Given the description of an element on the screen output the (x, y) to click on. 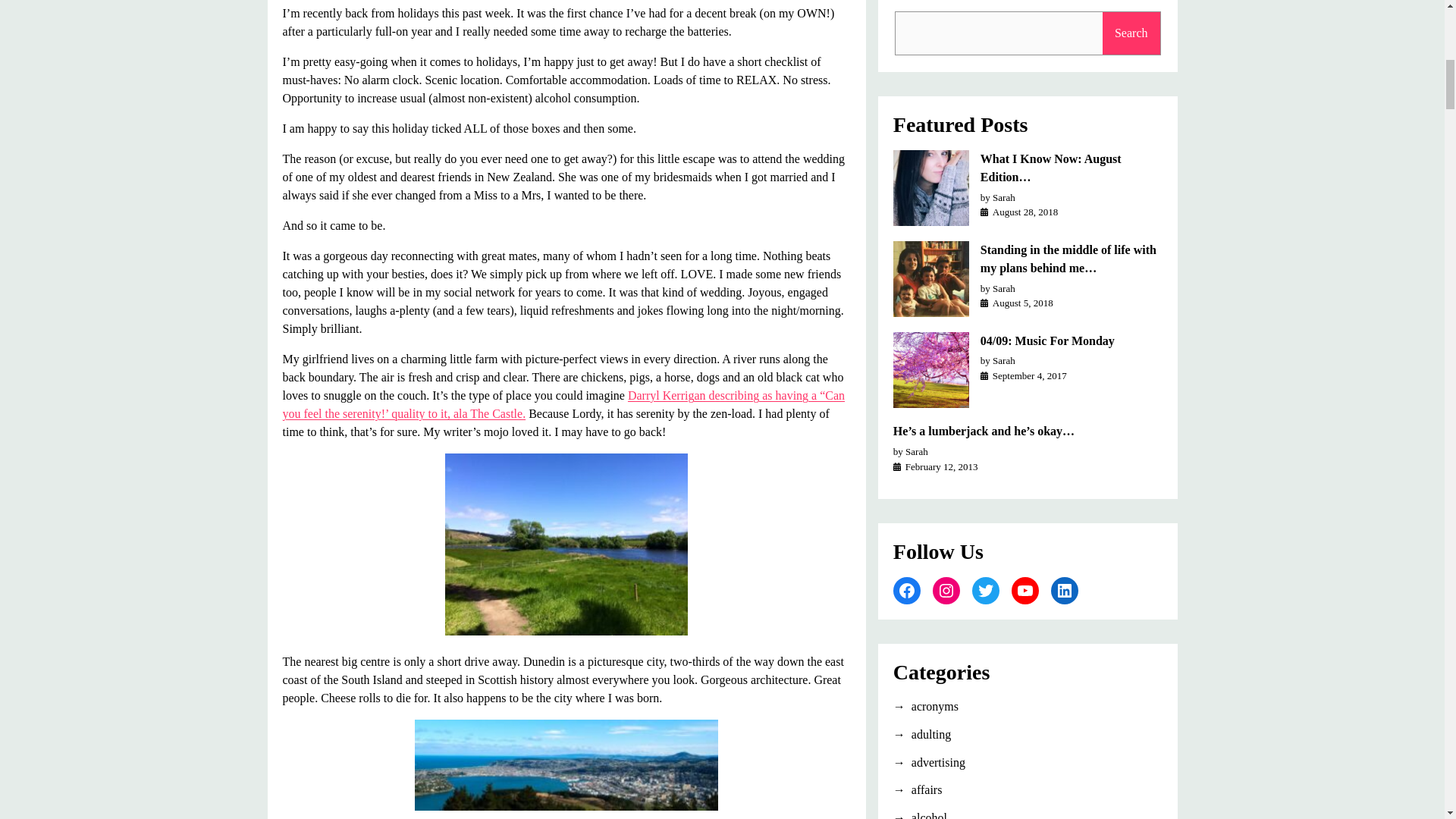
affairs (1027, 790)
adulting (1027, 734)
alcohol (1027, 814)
advertising (1027, 762)
YouTube (1025, 590)
acronyms (1027, 706)
Facebook (906, 590)
Twitter (985, 590)
Search (1131, 33)
Instagram (946, 590)
LinkedIn (1064, 590)
